Given the description of an element on the screen output the (x, y) to click on. 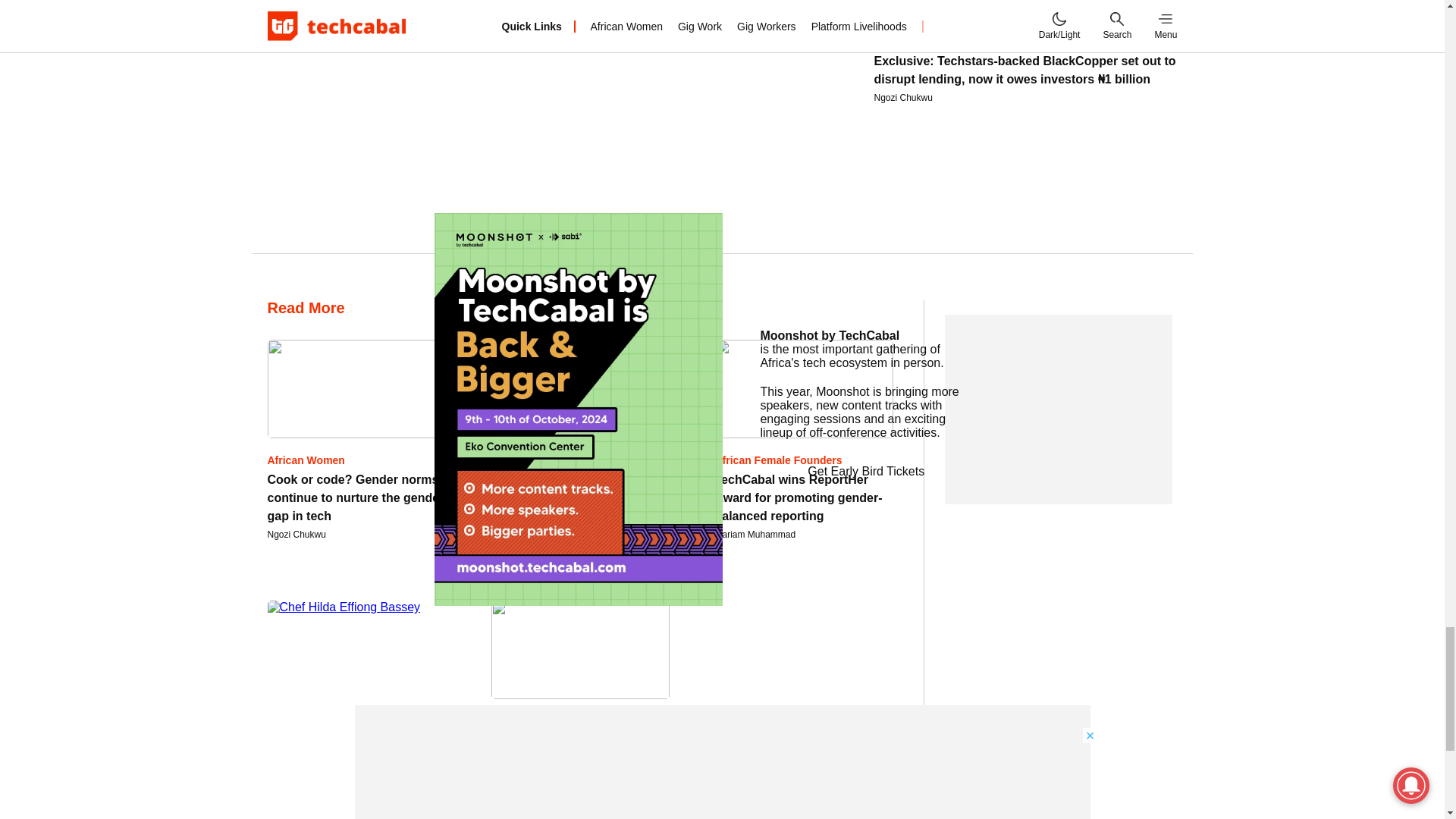
Posts by Ngozi Chukwu (295, 534)
Posts by Editor (503, 795)
Posts by Mariam Muhammad (754, 534)
Posts by Ngozi Chukwu (902, 97)
Posts by Joseph Olaoluwa (301, 795)
Posts by Hannatu Asheolge (529, 534)
